Given the description of an element on the screen output the (x, y) to click on. 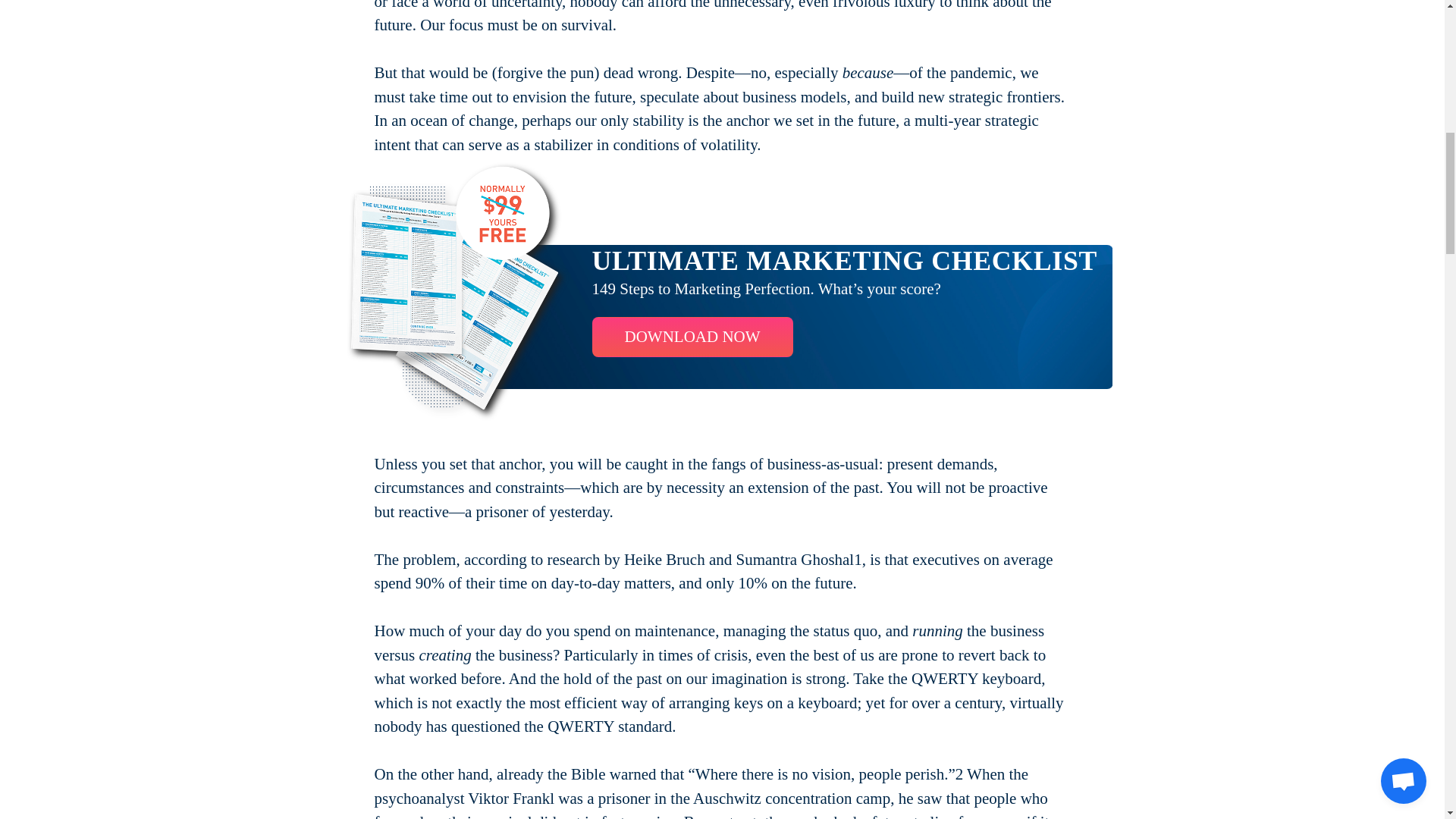
DOWNLOAD NOW (691, 336)
DOWNLOAD NOW (691, 336)
